Given the description of an element on the screen output the (x, y) to click on. 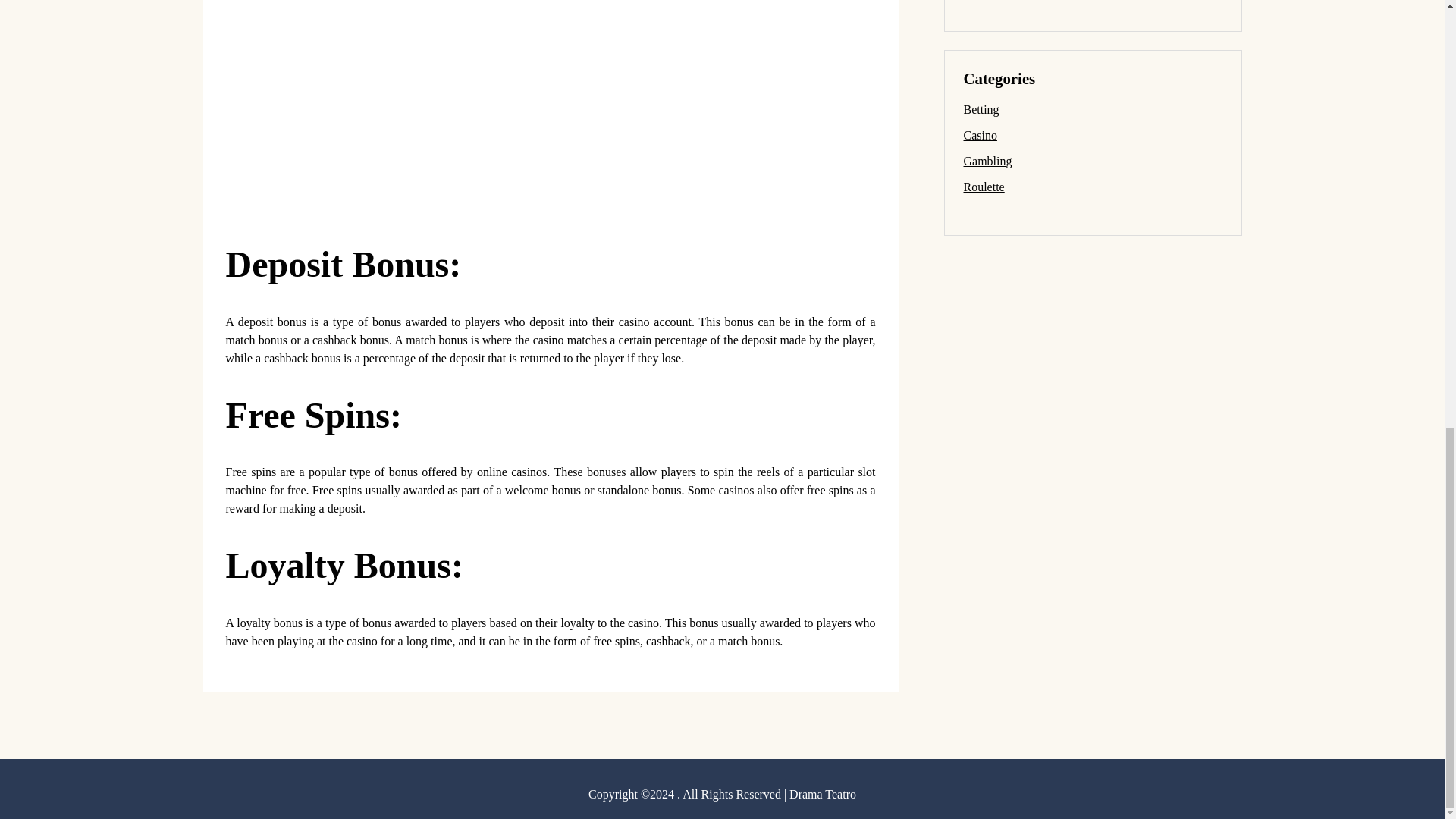
Casino (978, 134)
Betting (980, 109)
Gambling (986, 160)
Roulette (983, 186)
